Given the description of an element on the screen output the (x, y) to click on. 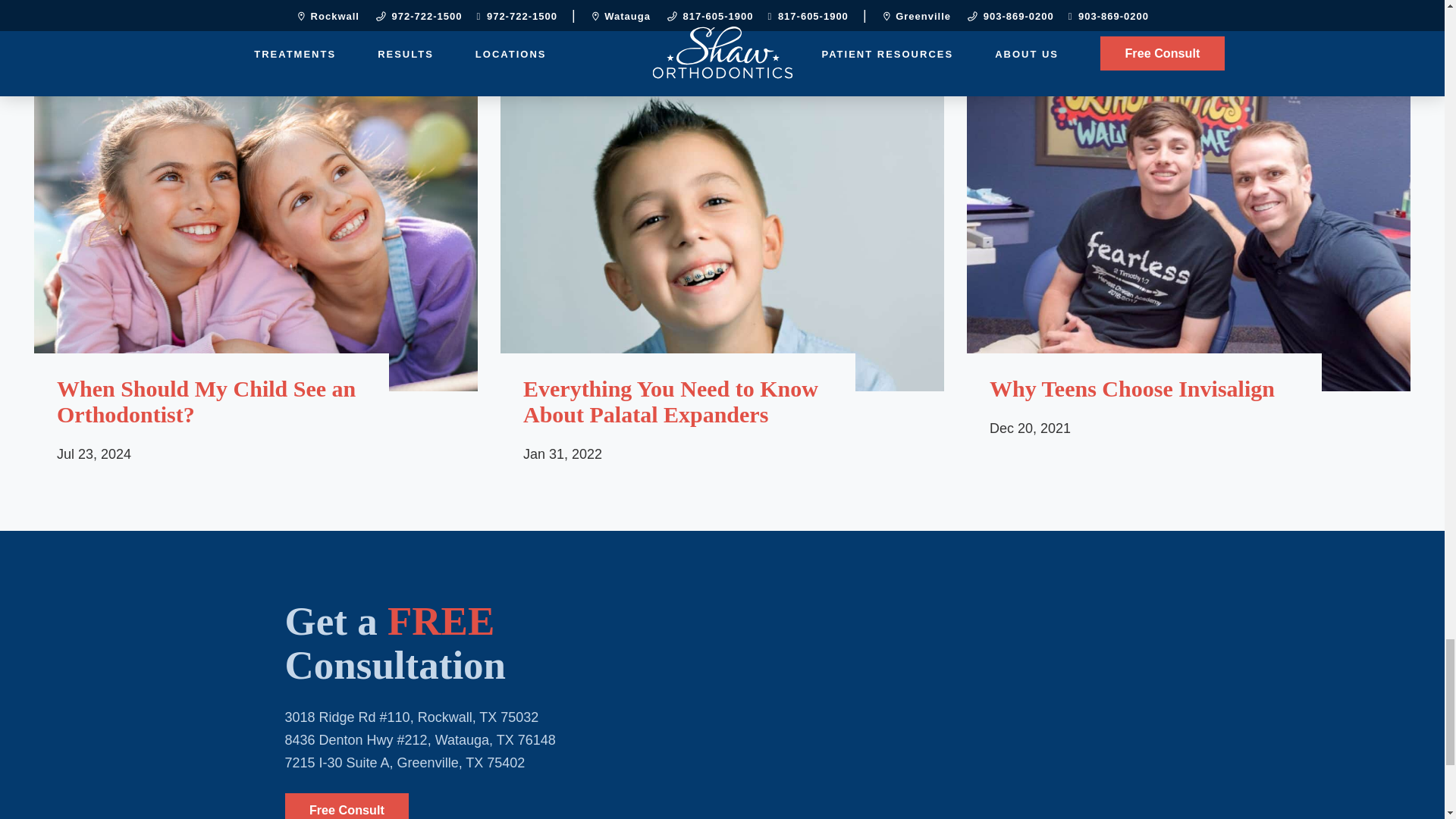
Everything You Need to Know About Palatal Expanders (677, 401)
When Should My Child See an Orthodontist? (211, 401)
Why Teens Choose Invisalign (1144, 388)
